Given the description of an element on the screen output the (x, y) to click on. 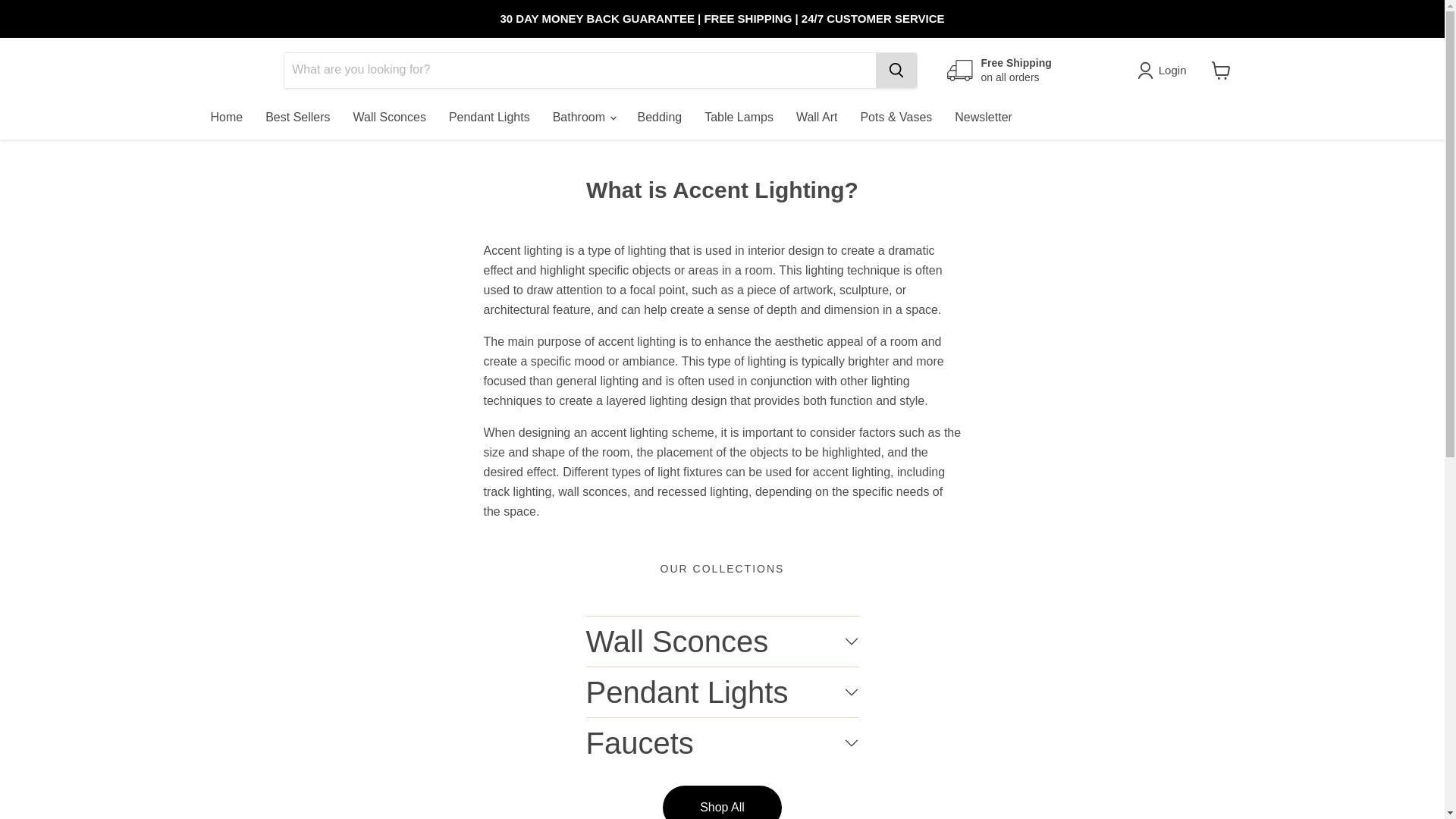
Wall Art (816, 117)
Table Lamps (738, 117)
Pendant Lights (489, 117)
Login (1164, 70)
Bedding (659, 117)
View cart (1221, 69)
Best Sellers (296, 117)
Wall Sconces (390, 117)
Home (225, 117)
Newsletter (983, 117)
